Given the description of an element on the screen output the (x, y) to click on. 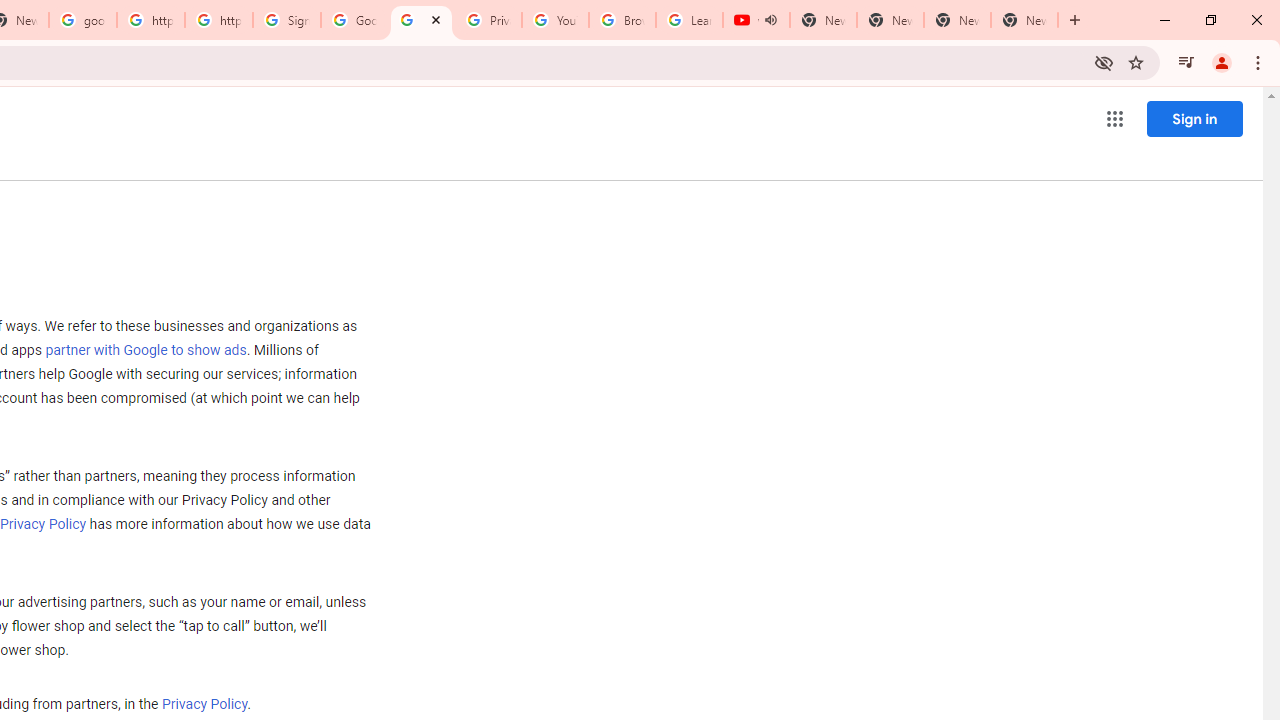
https://scholar.google.com/ (219, 20)
YouTube (555, 20)
New Tab (1024, 20)
